Given the description of an element on the screen output the (x, y) to click on. 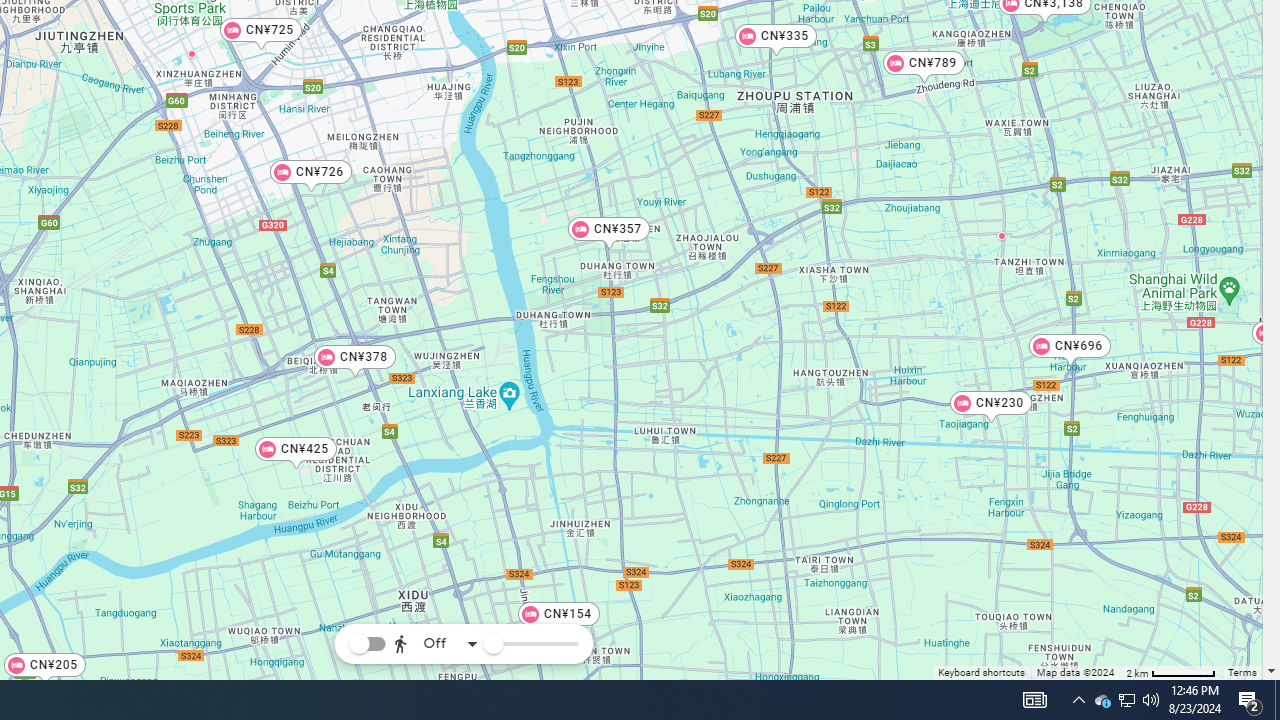
Map Scale: 2 km per 61 pixels (1171, 672)
Drive (431, 588)
